Given the description of an element on the screen output the (x, y) to click on. 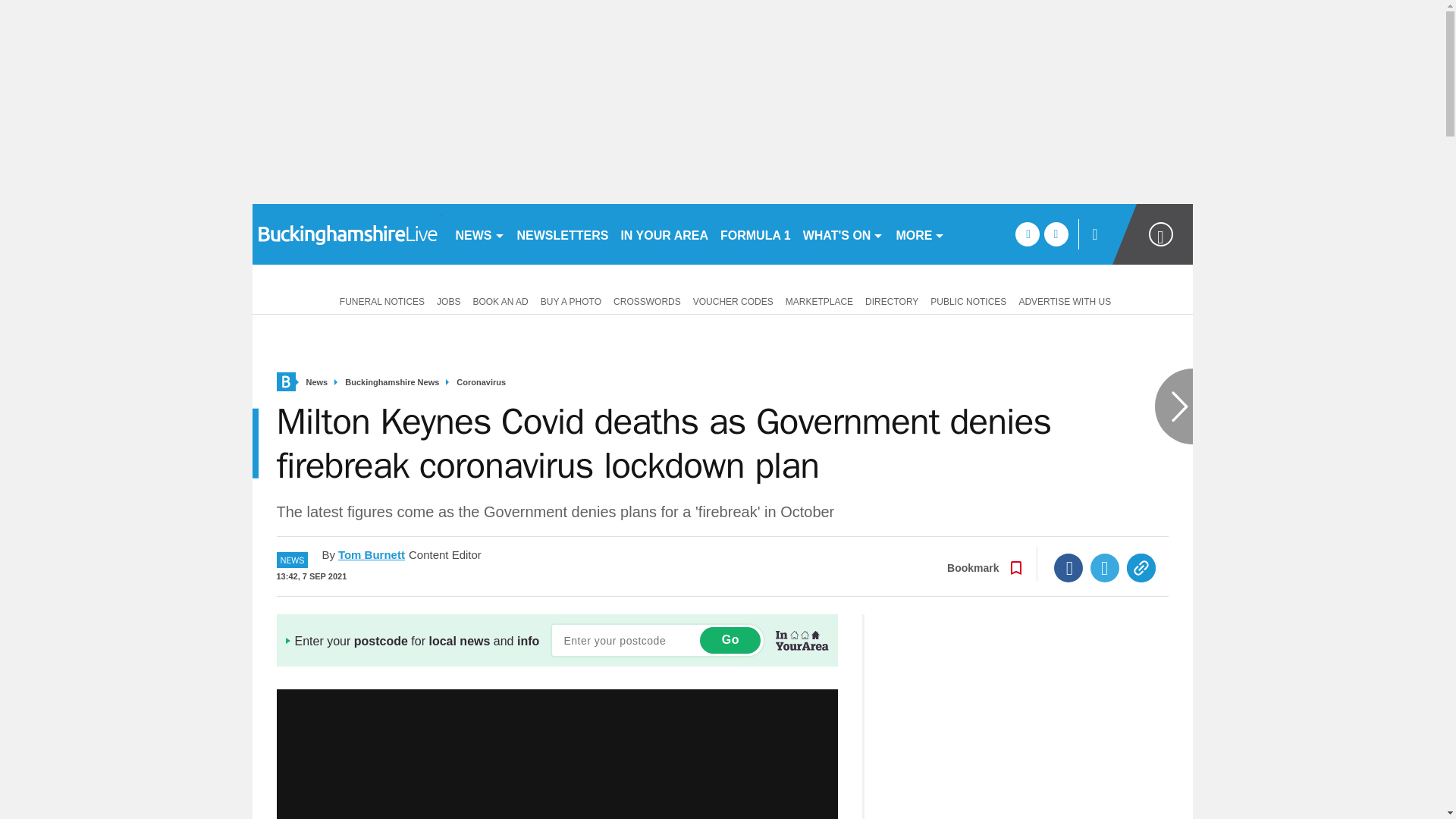
Home (285, 381)
Go (730, 640)
MARKETPLACE (818, 300)
JOBS (447, 300)
Buckinghamshire News (392, 382)
Twitter (1104, 567)
BOOK AN AD (499, 300)
Coronavirus (481, 382)
NEWSLETTERS (562, 233)
VOUCHER CODES (732, 300)
